Given the description of an element on the screen output the (x, y) to click on. 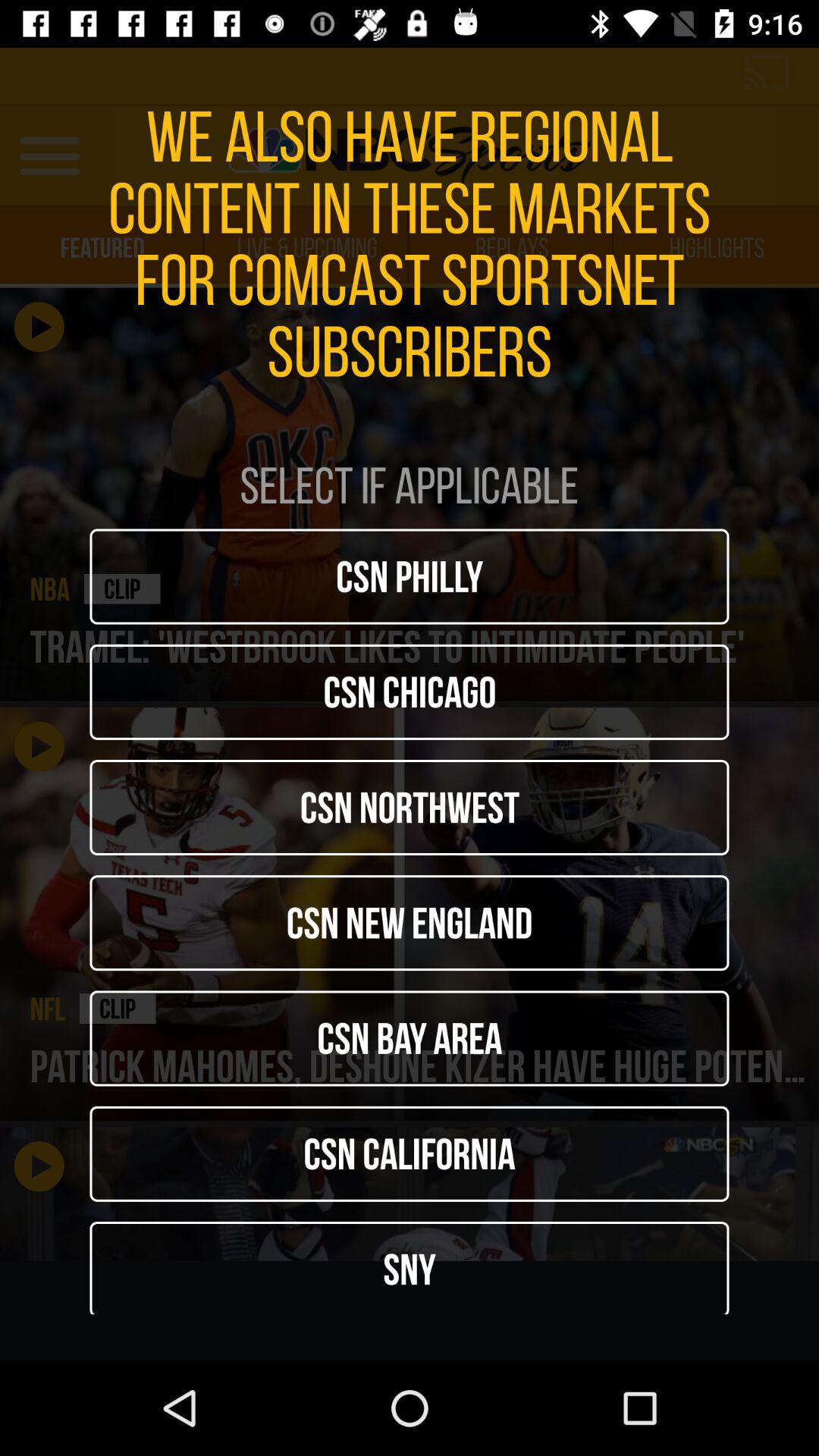
open icon above the csn bay area icon (409, 922)
